Given the description of an element on the screen output the (x, y) to click on. 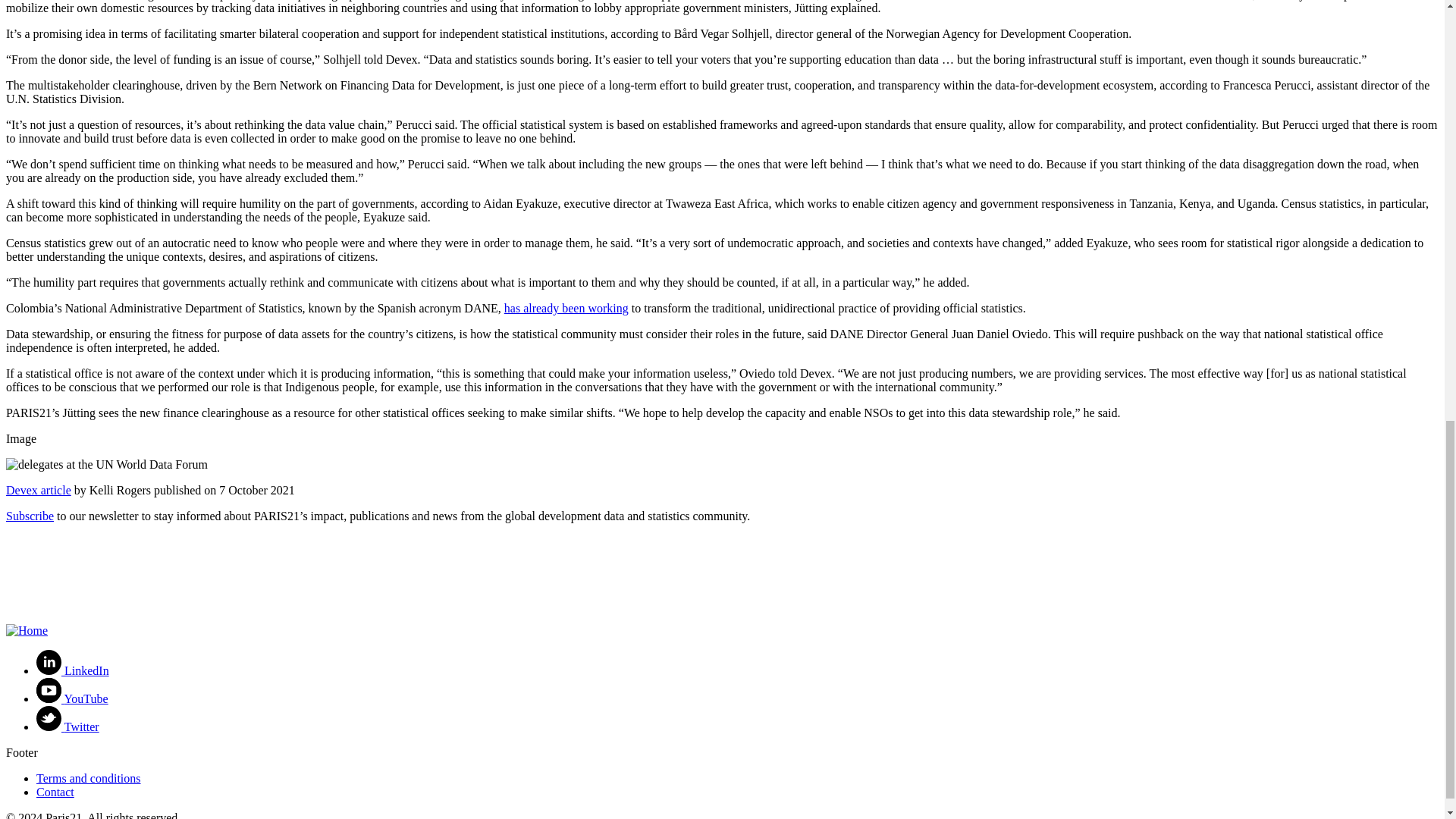
Contact (55, 791)
Twitter (67, 726)
LinkedIn (72, 670)
has already been working (565, 308)
Subscribe (29, 515)
Devex article (38, 490)
Terms and conditions (88, 778)
YouTube (71, 698)
